Given the description of an element on the screen output the (x, y) to click on. 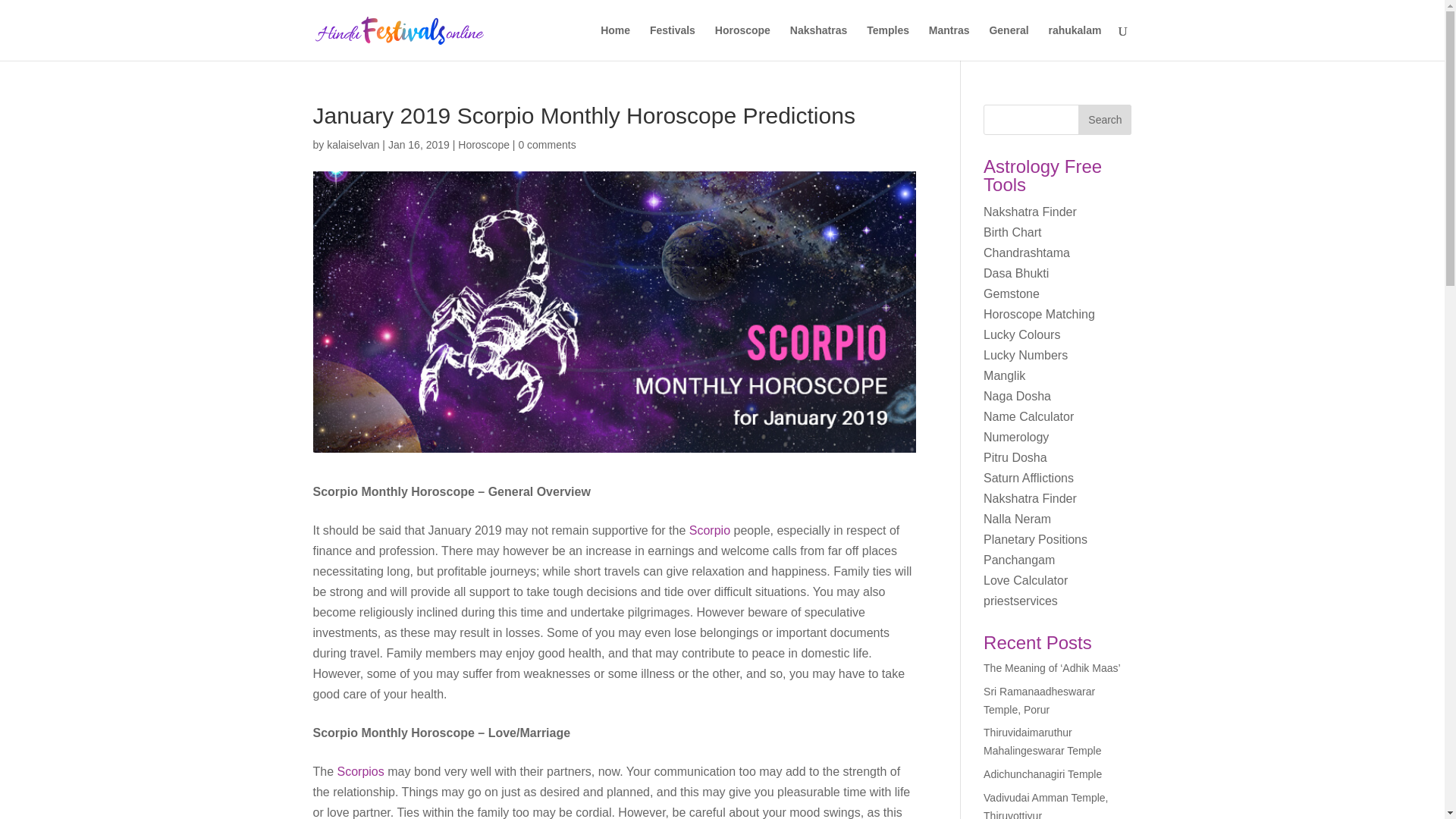
Horoscope (483, 144)
Pitru Dosha (1015, 457)
Dasa Bhukti (1016, 273)
Lucky Numbers (1025, 354)
Name Calculator (1029, 416)
Posts by kalaiselvan (352, 144)
Search (1104, 119)
kalaiselvan (352, 144)
Horoscope Matching (1039, 314)
Scorpio (709, 530)
